Given the description of an element on the screen output the (x, y) to click on. 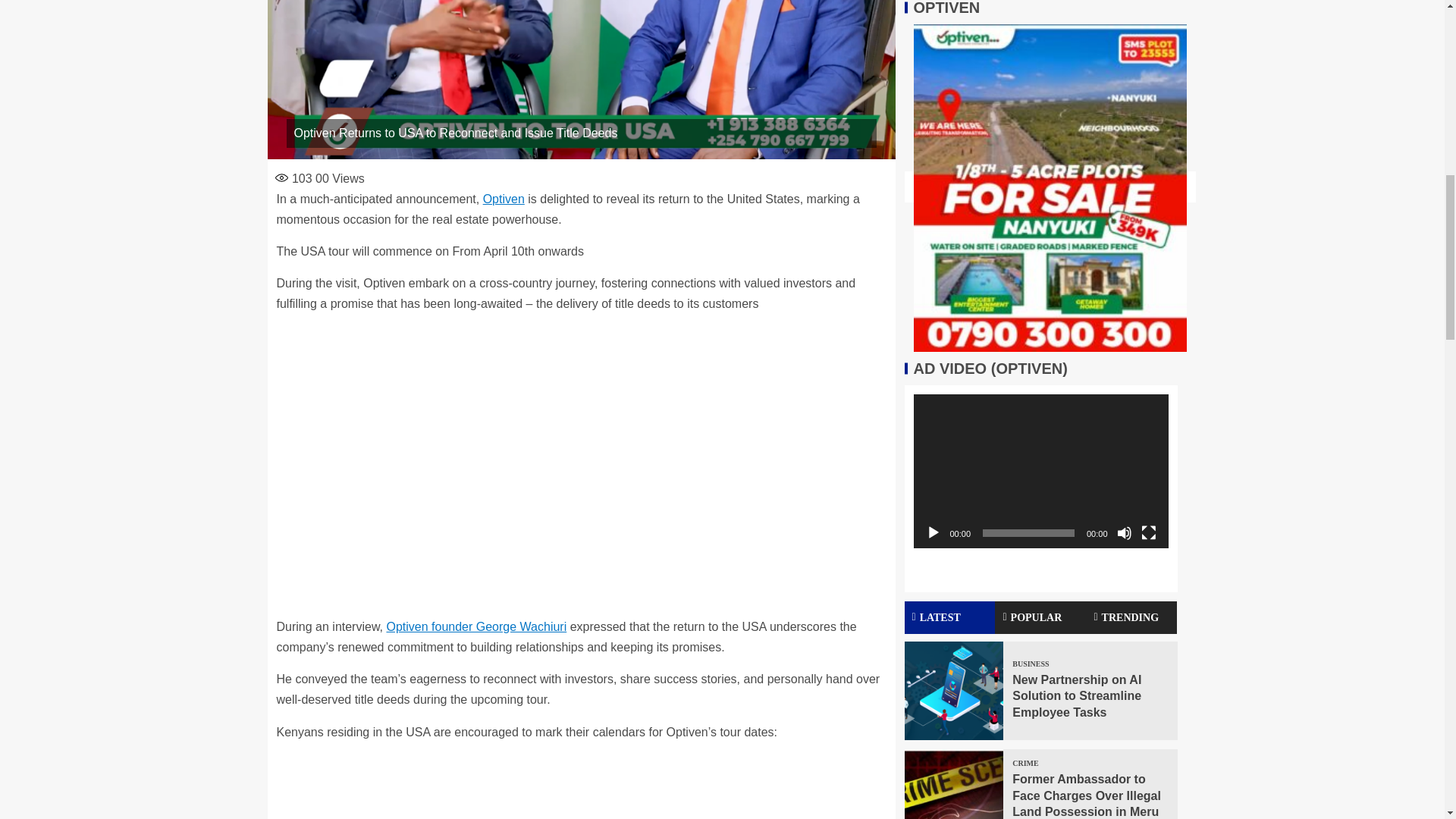
Optiven founder George Wachiuri (475, 626)
Mute (1123, 192)
Optiven (503, 198)
Play (932, 192)
Fullscreen (1148, 192)
